Given the description of an element on the screen output the (x, y) to click on. 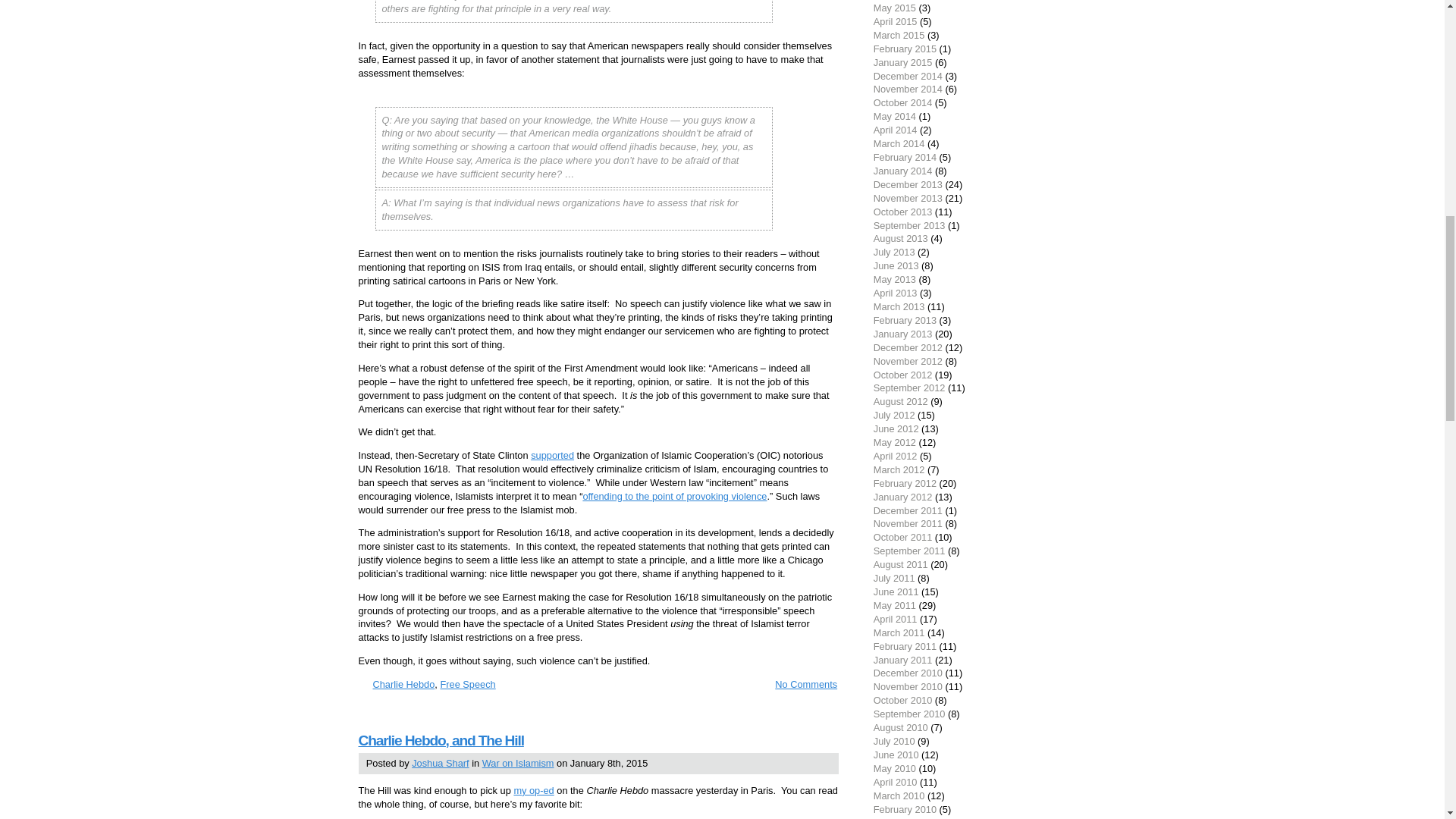
Charlie Hebdo (403, 684)
my op-ed (533, 790)
War on Islamism (517, 763)
Joshua Sharf (440, 763)
supported (552, 455)
Posts by Joshua Sharf  (440, 763)
Free Speech (467, 684)
offending to the point of provoking violence (674, 496)
No Comments (799, 684)
Permanent Link: Charlie Hebdo, and The Hill (440, 740)
